Given the description of an element on the screen output the (x, y) to click on. 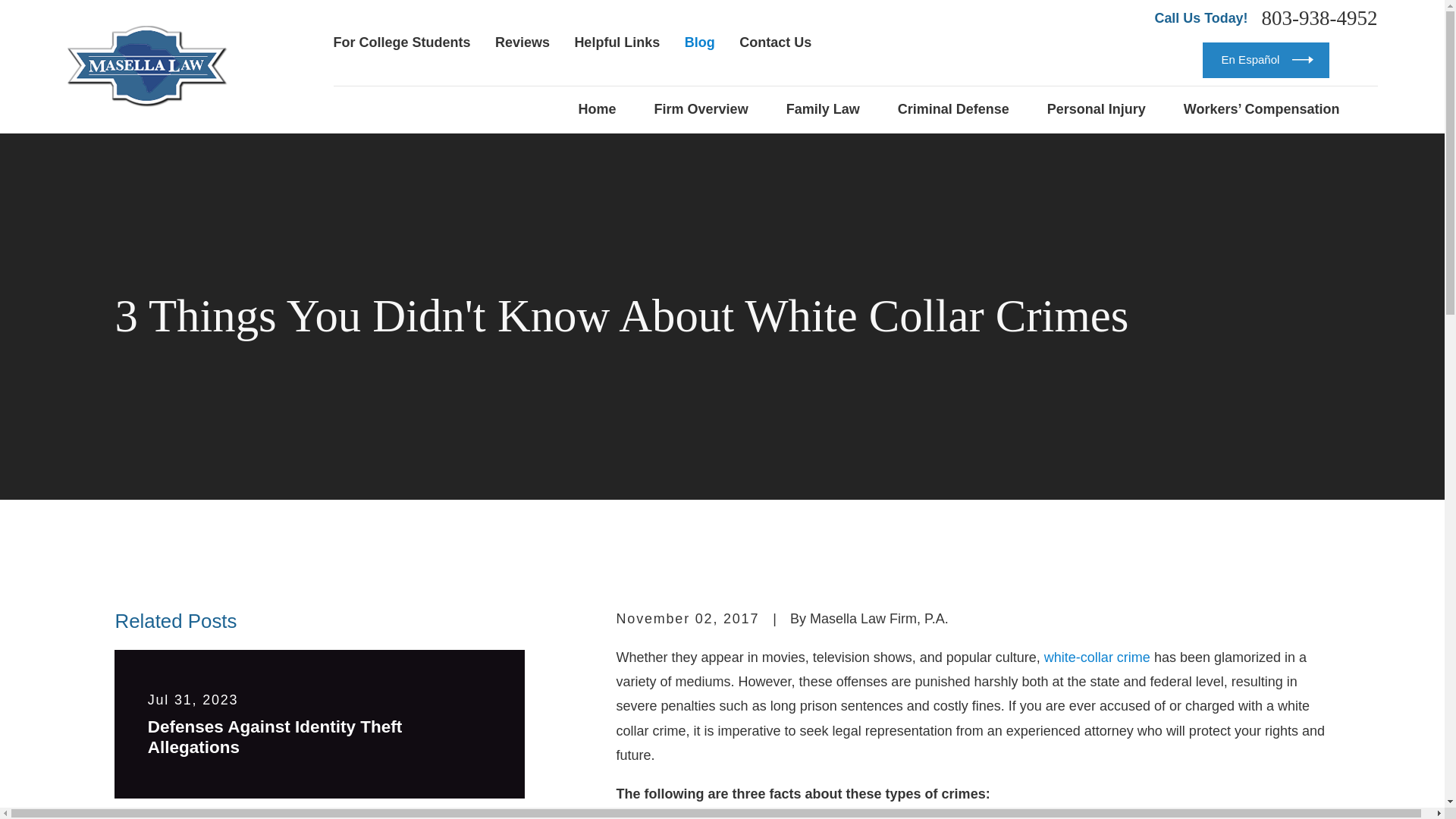
Blog (699, 42)
Firm Overview (700, 108)
Masella Law Firm, P.A. (146, 66)
Family Law (823, 108)
Contact Us (774, 42)
803-938-4952 (1319, 18)
For College Students (401, 42)
Home (596, 108)
Reviews (522, 42)
Helpful Links (616, 42)
